Given the description of an element on the screen output the (x, y) to click on. 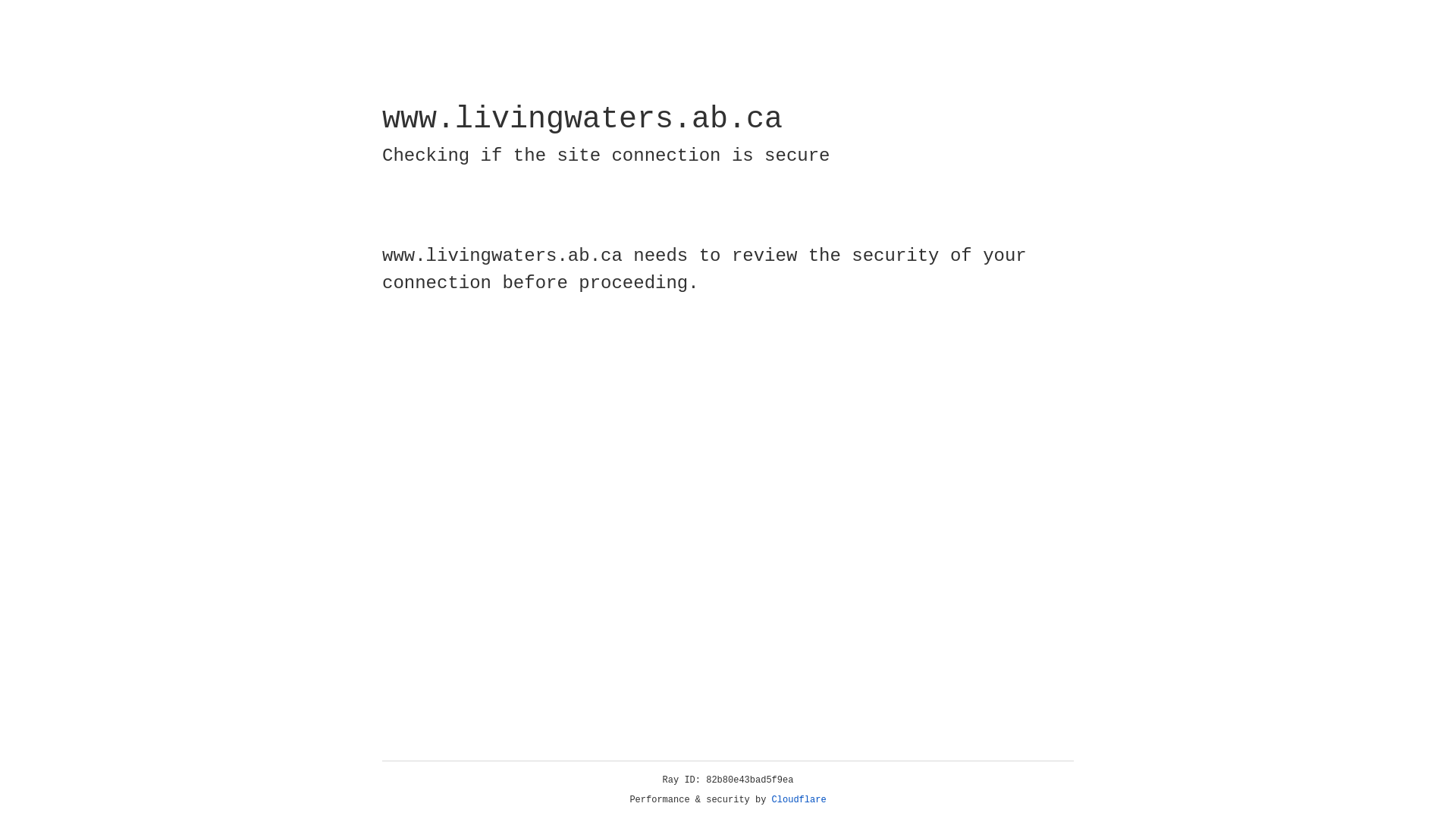
Cloudflare Element type: text (798, 799)
